Given the description of an element on the screen output the (x, y) to click on. 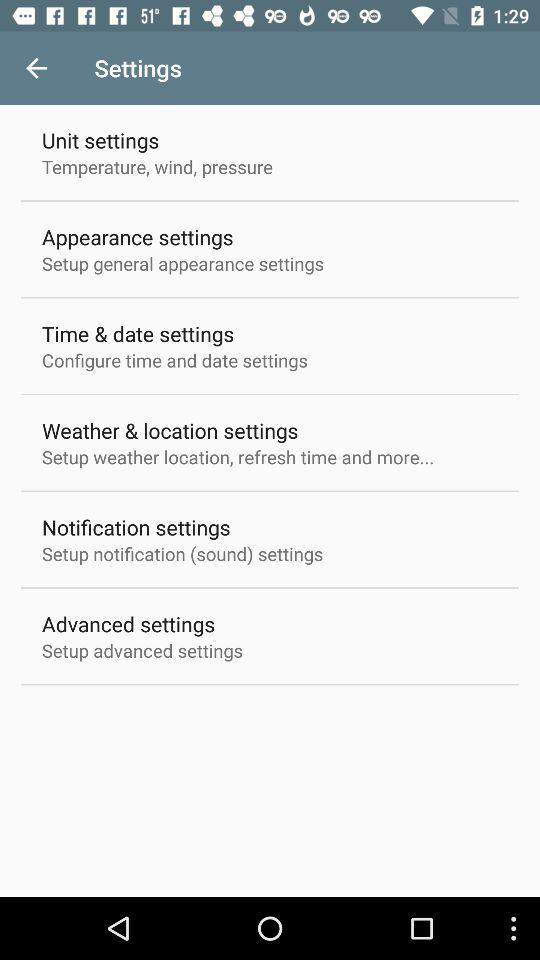
swipe to the temperature, wind, pressure item (157, 166)
